Given the description of an element on the screen output the (x, y) to click on. 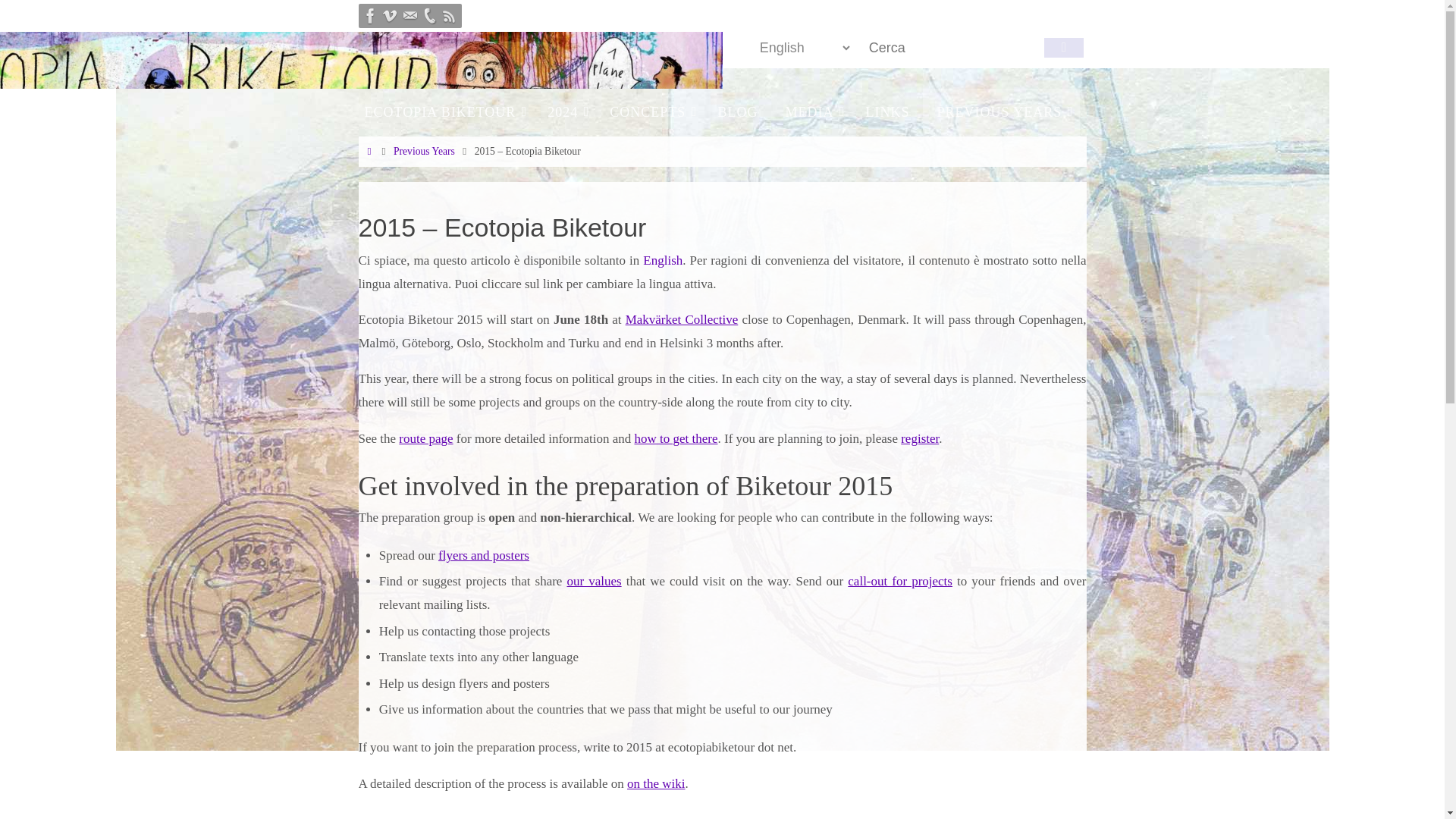
ECOTOPIA BIKETOUR (442, 112)
Mail (409, 15)
Facebook (369, 15)
Phone (428, 15)
RSS (448, 15)
Vimeo (389, 15)
Cerca (1063, 47)
